Given the description of an element on the screen output the (x, y) to click on. 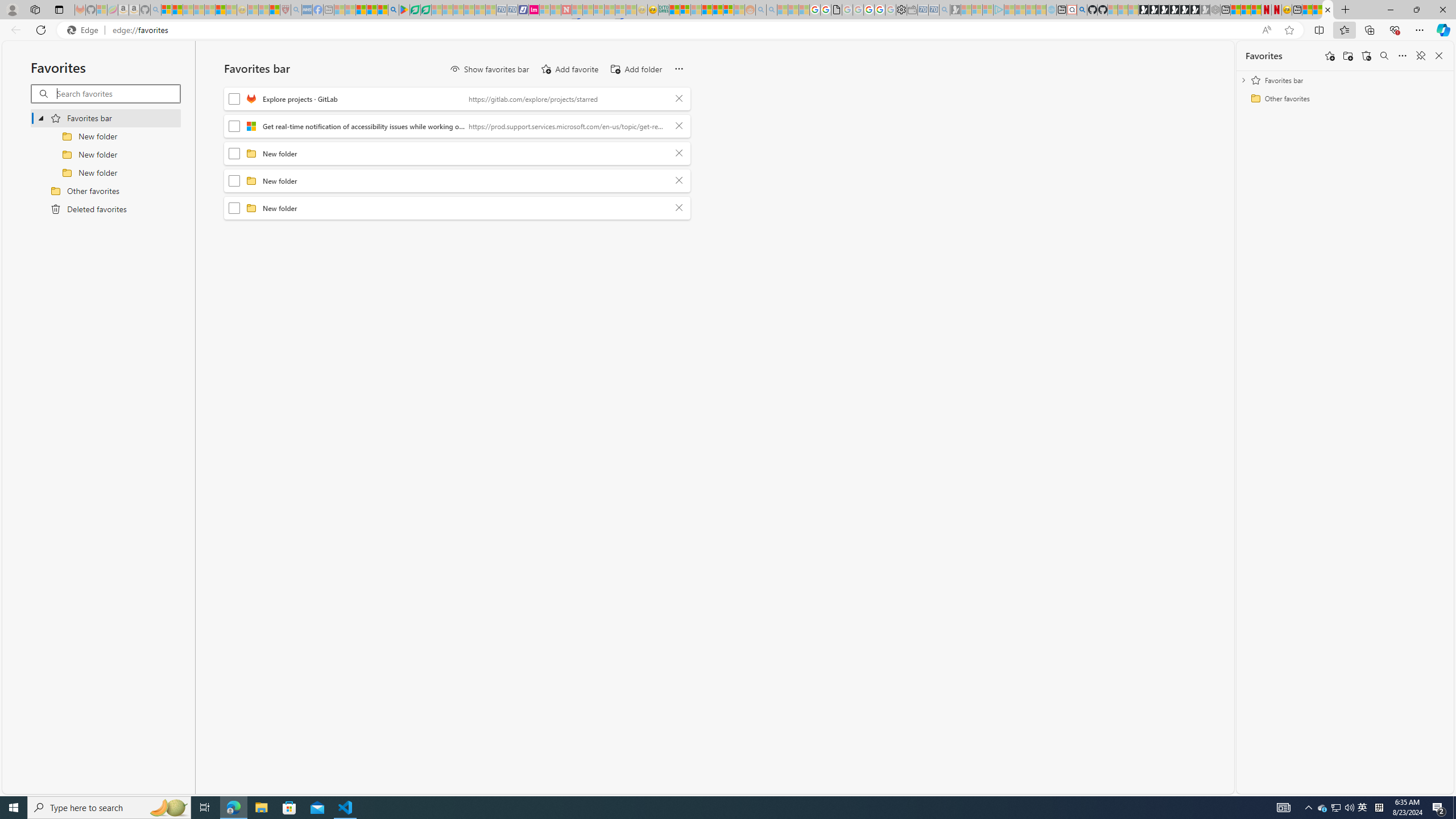
Latest Politics News & Archive | Newsweek.com - Sleeping (566, 9)
Pets - MSN (371, 9)
Expert Portfolios (707, 9)
Robert H. Shmerling, MD - Harvard Health - Sleeping (285, 9)
Add this page to favorites (Ctrl+D) (1289, 29)
The Weather Channel - MSN - Sleeping (187, 9)
Recipes - MSN - Sleeping (253, 9)
MSNBC - MSN - Sleeping (339, 9)
github - Search (1081, 9)
Wildlife - MSN (1307, 9)
Split screen (1318, 29)
